Given the description of an element on the screen output the (x, y) to click on. 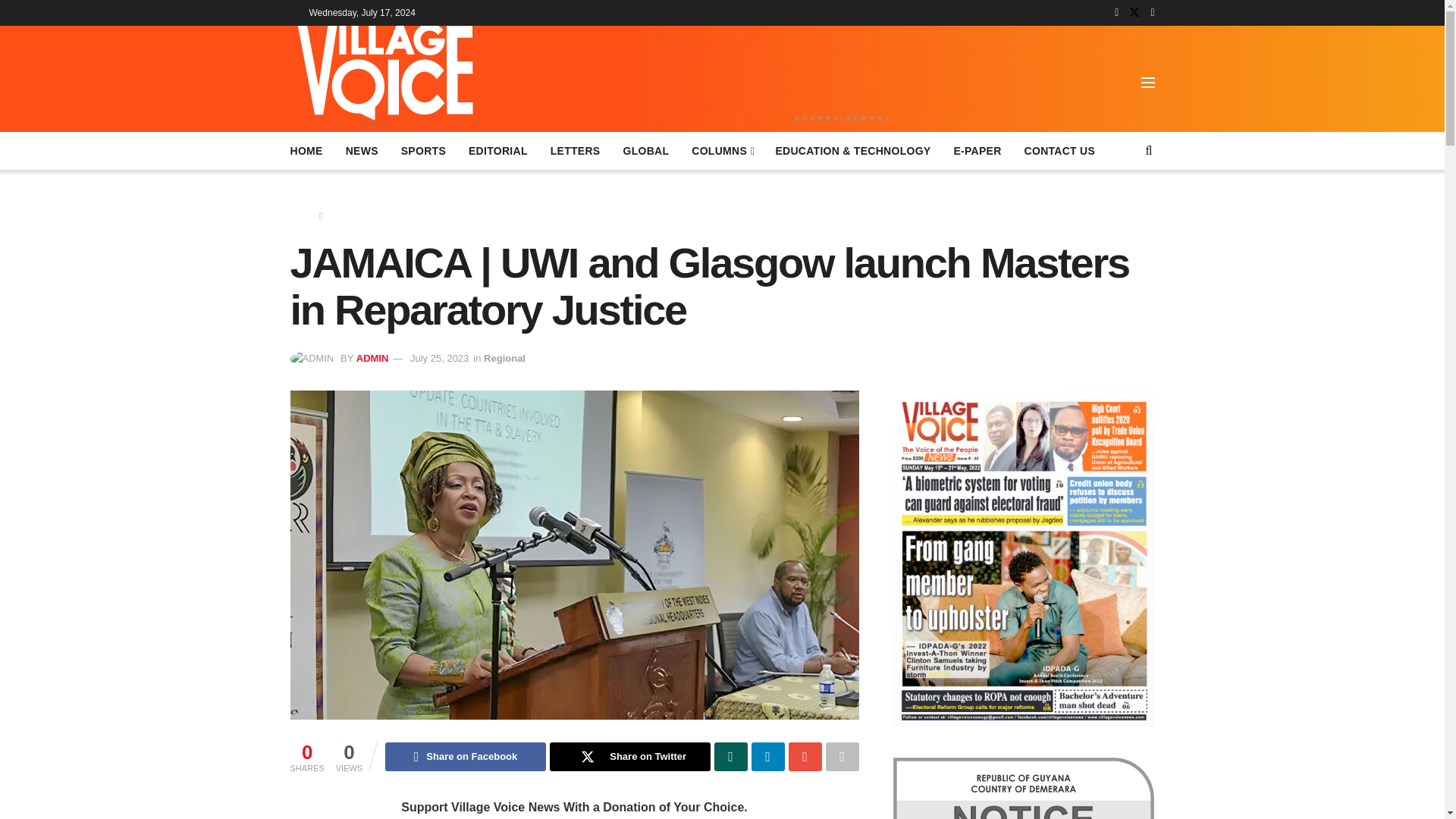
CONTACT US (1060, 150)
EDITORIAL (497, 150)
LETTERS (574, 150)
E-PAPER (977, 150)
NEWS (362, 150)
GLOBAL (645, 150)
HOME (305, 150)
COLUMNS (721, 150)
SPORTS (423, 150)
